Given the description of an element on the screen output the (x, y) to click on. 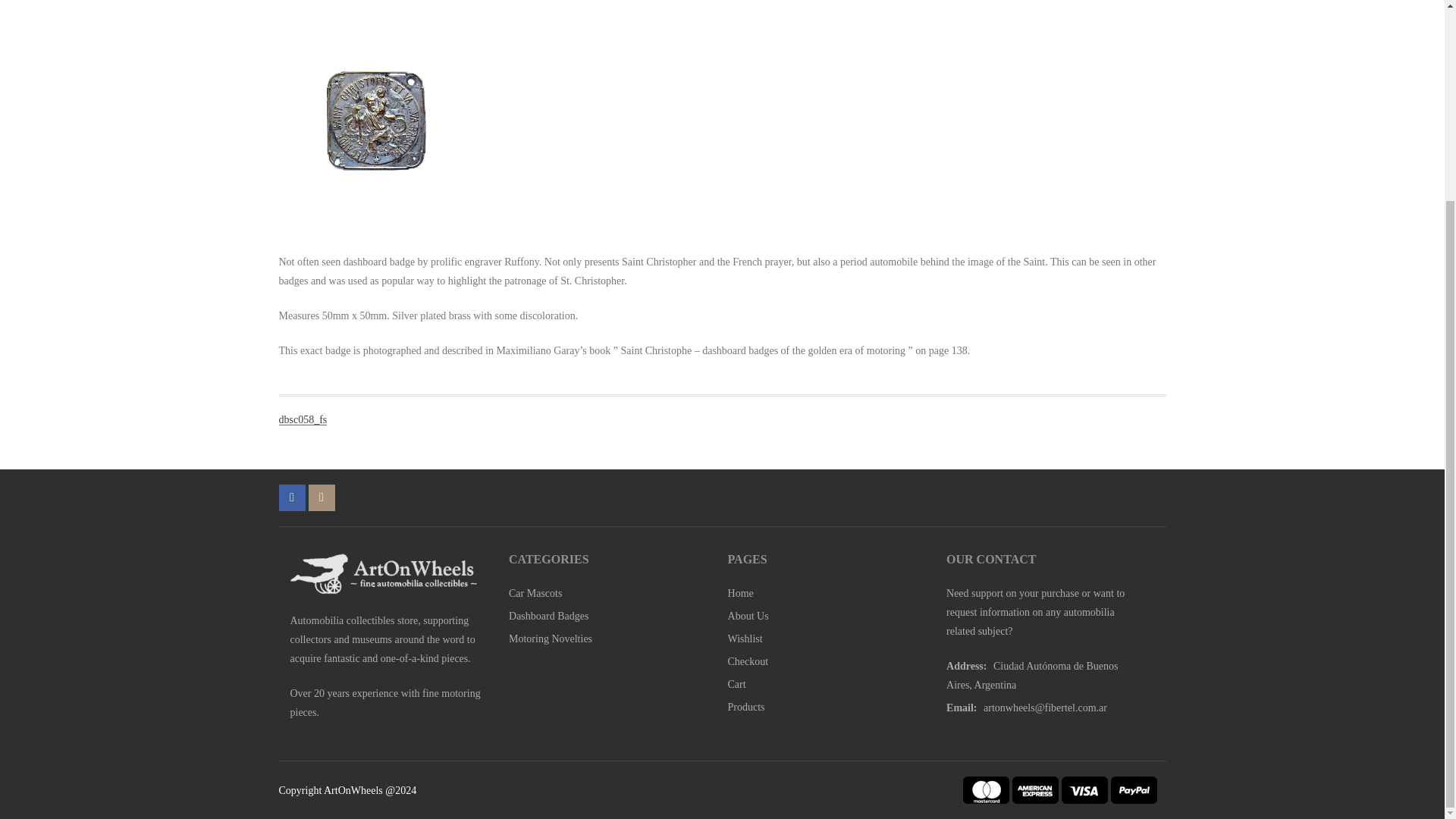
Checkout (748, 661)
Dashboard Badges (548, 615)
Motoring Novelties (550, 638)
Products (746, 706)
Home (741, 593)
About Us (748, 615)
Wishlist (745, 638)
Cart (736, 684)
Car Mascots (535, 593)
